Given the description of an element on the screen output the (x, y) to click on. 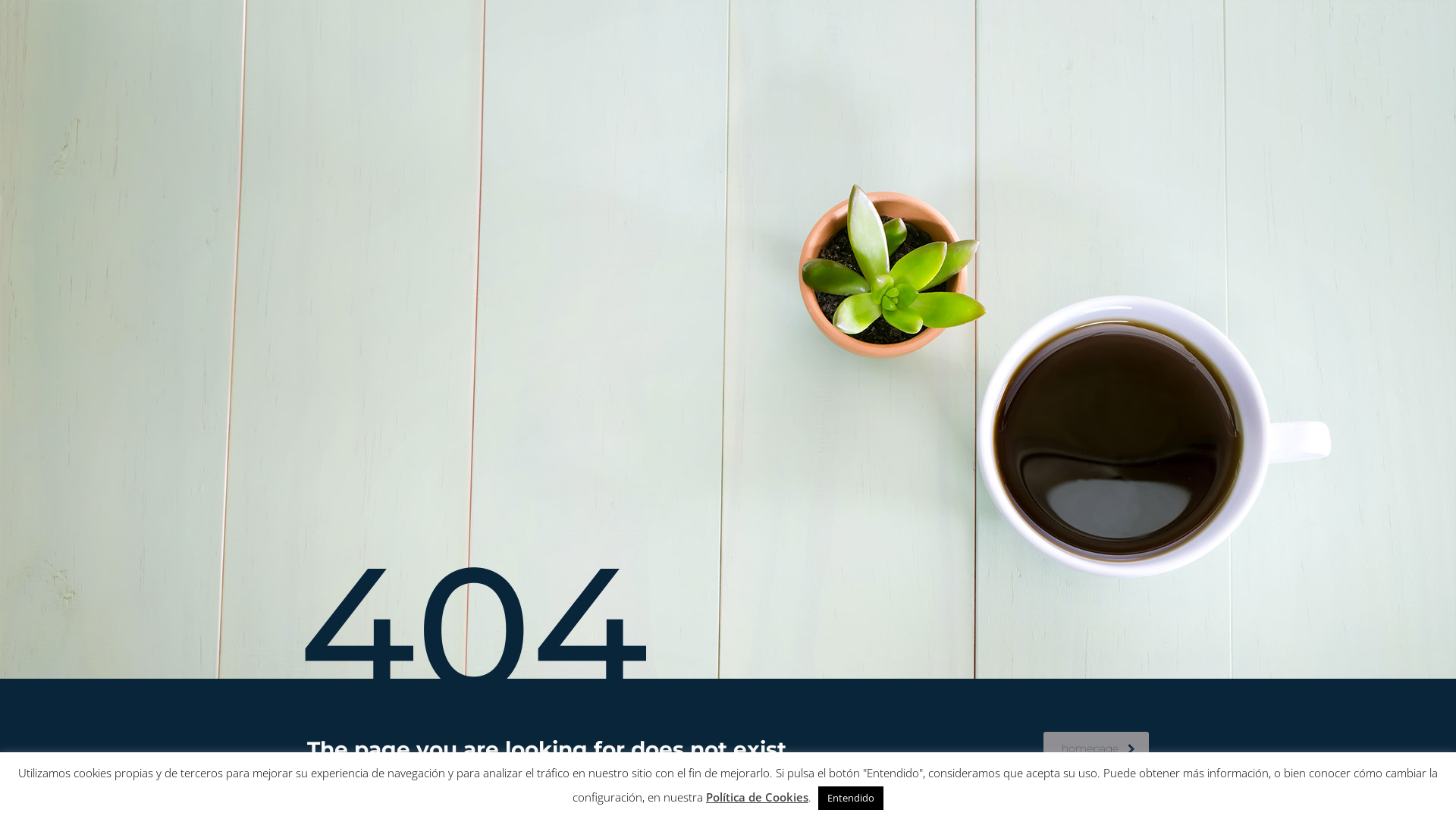
Entendido Element type: text (850, 797)
homepage Element type: text (1095, 748)
